Given the description of an element on the screen output the (x, y) to click on. 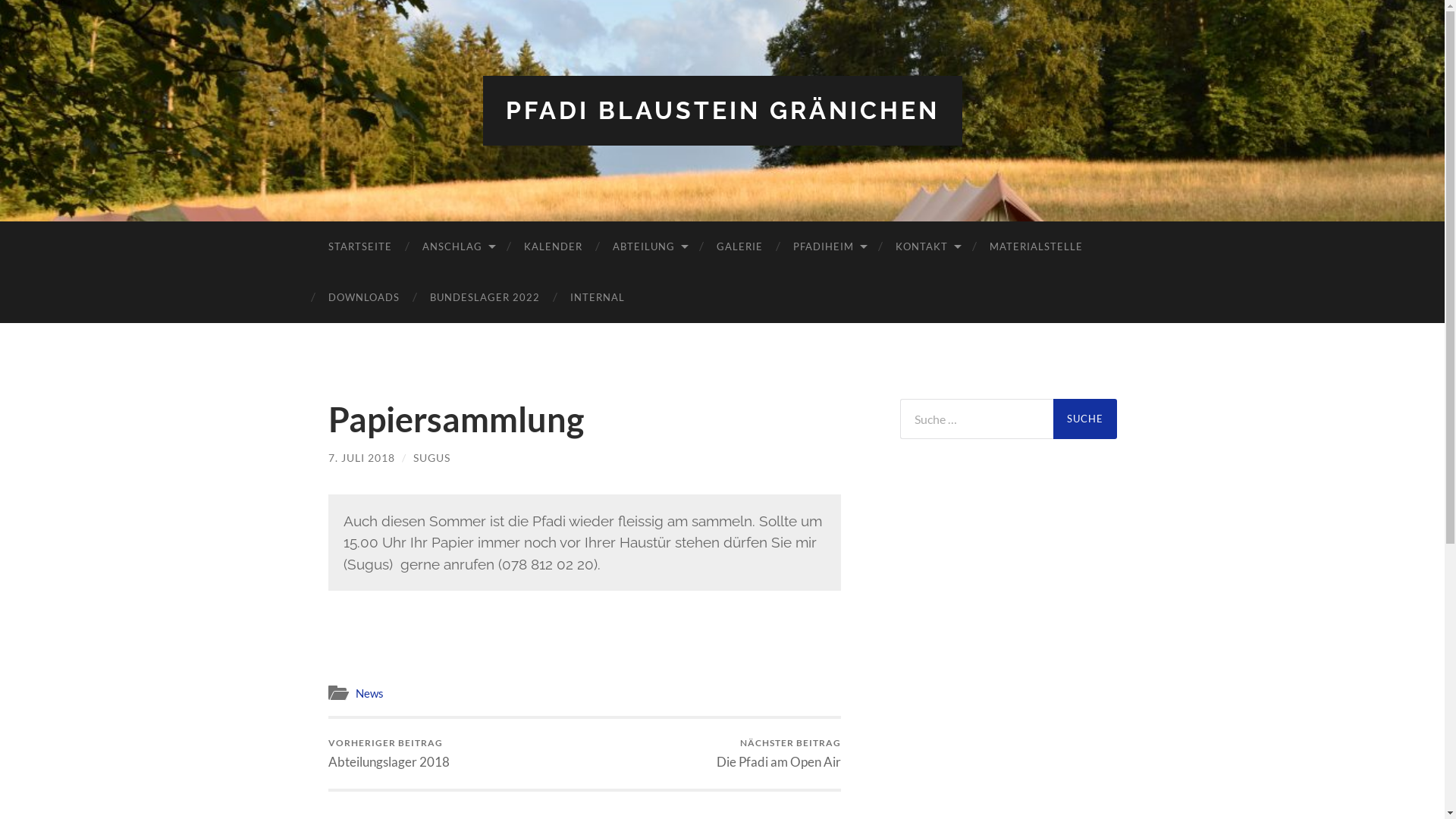
News Element type: text (368, 692)
KONTAKT Element type: text (926, 246)
ABTEILUNG Element type: text (649, 246)
GALERIE Element type: text (738, 246)
SUGUS Element type: text (430, 456)
MATERIALSTELLE Element type: text (1035, 246)
VORHERIGER BEITRAG
Abteilungslager 2018 Element type: text (387, 753)
PFADIHEIM Element type: text (829, 246)
STARTSEITE Element type: text (359, 246)
7. JULI 2018 Element type: text (360, 456)
INTERNAL Element type: text (597, 296)
Suche Element type: text (1084, 418)
DOWNLOADS Element type: text (363, 296)
BUNDESLAGER 2022 Element type: text (484, 296)
KALENDER Element type: text (552, 246)
ANSCHLAG Element type: text (457, 246)
